Given the description of an element on the screen output the (x, y) to click on. 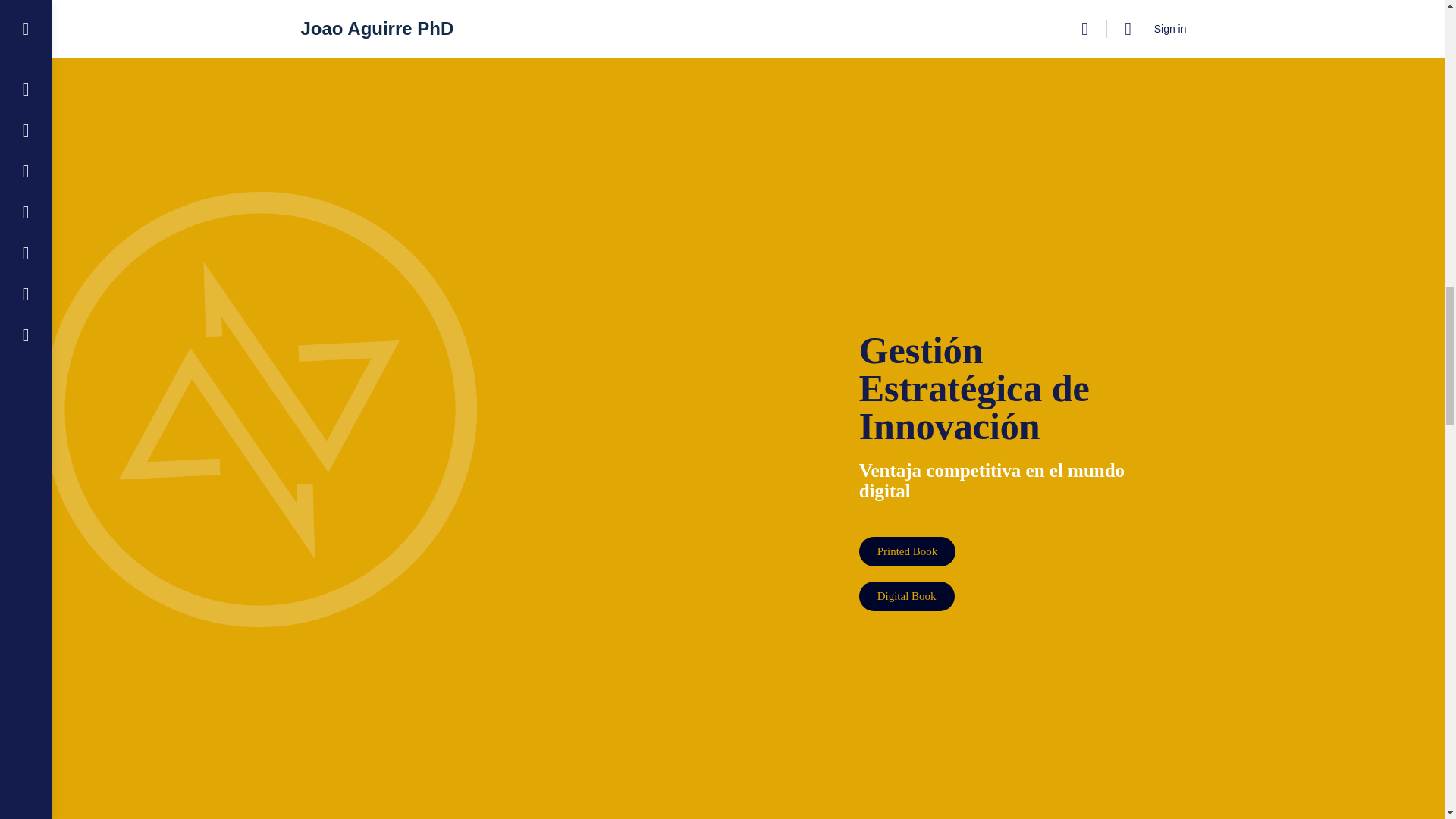
Printed Book (907, 551)
Digital Book (550, 25)
Digital Book (907, 595)
Page 1 (1014, 480)
